Given the description of an element on the screen output the (x, y) to click on. 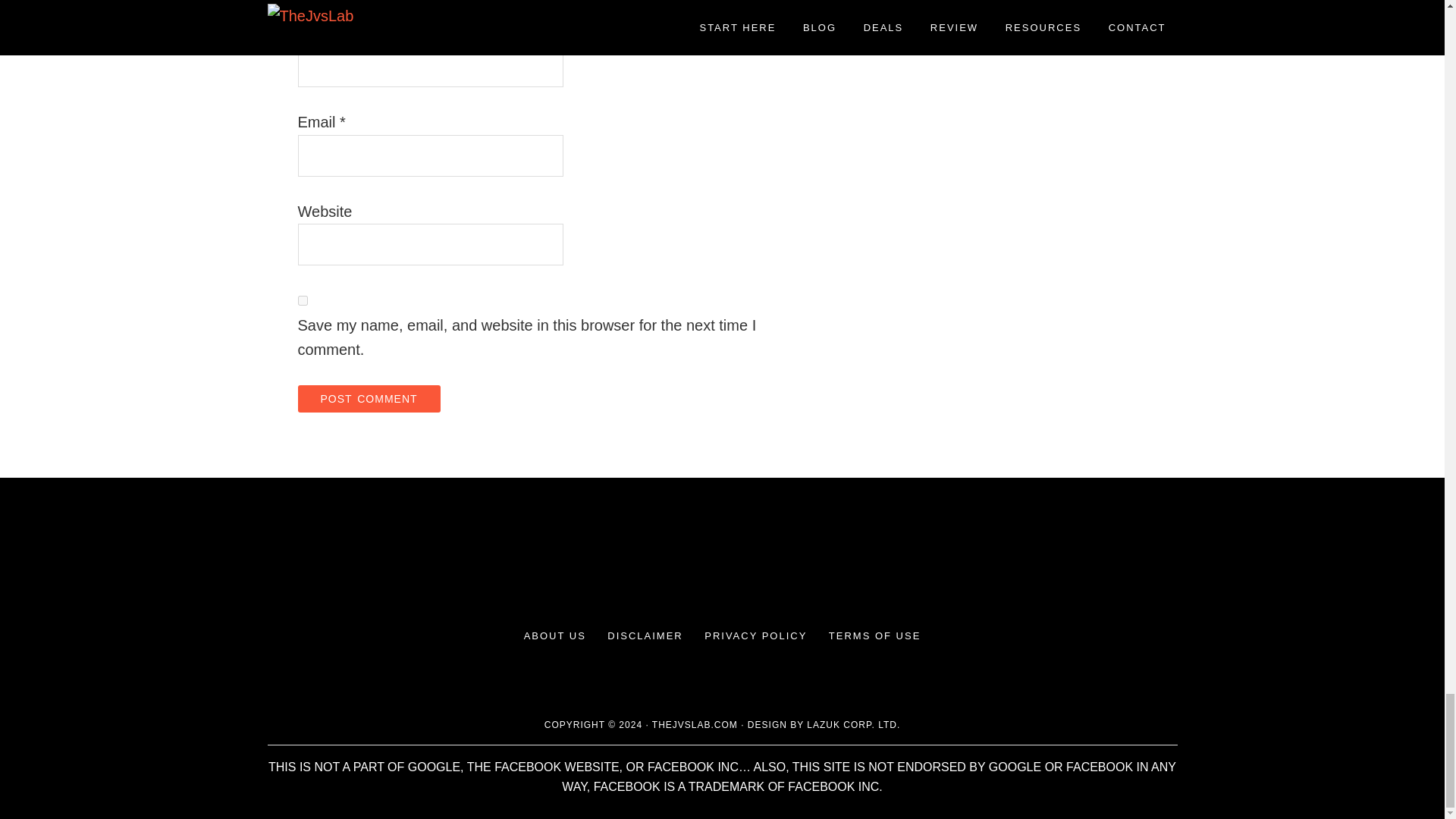
Post Comment (368, 398)
yes (302, 300)
